Given the description of an element on the screen output the (x, y) to click on. 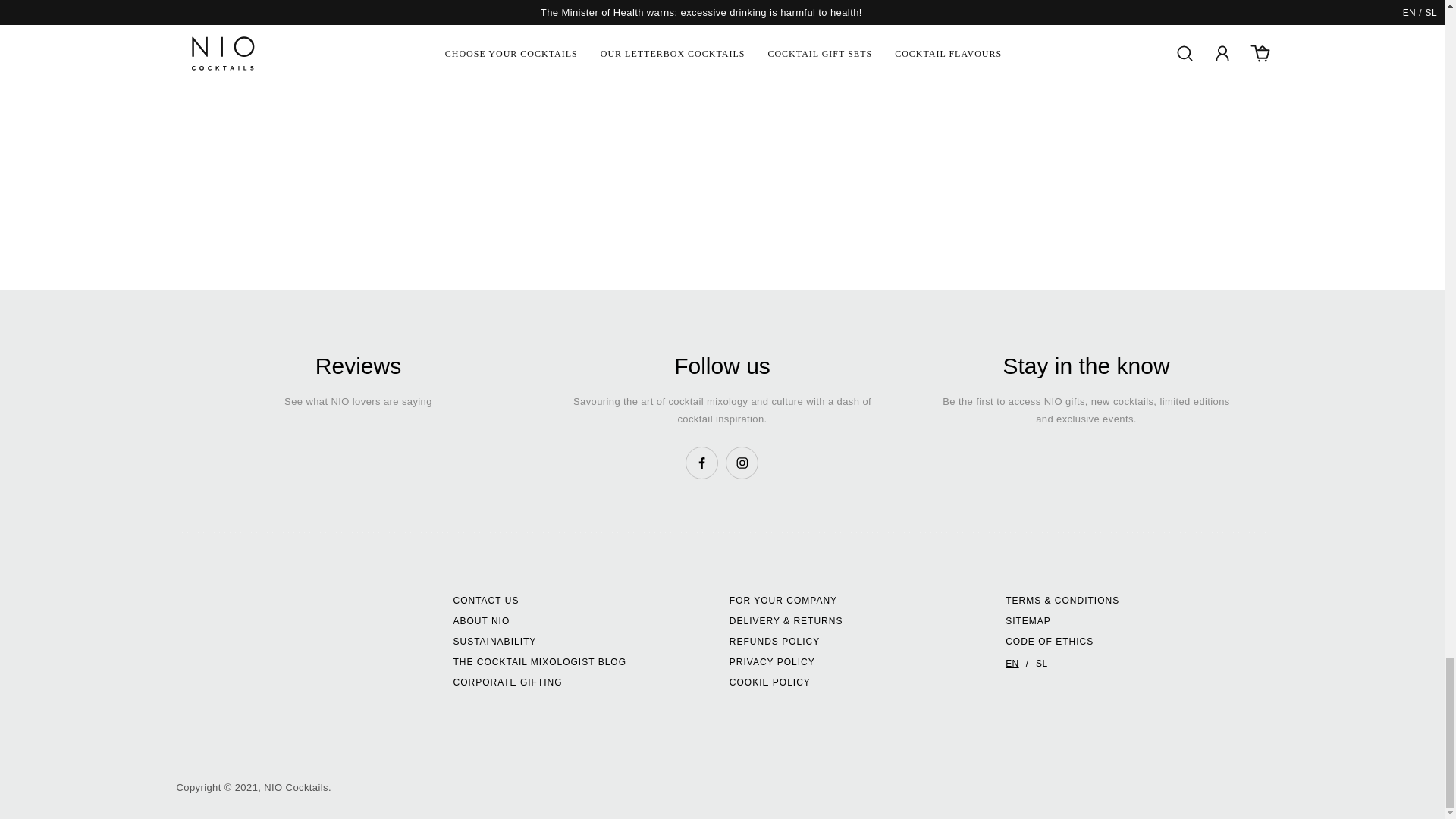
Sitemap (1027, 620)
Code of ethics (1049, 641)
Sustainability (494, 641)
For your Company (783, 600)
Corporate Gifting (507, 682)
Cookie Policy (769, 682)
About NIO (480, 620)
The Cocktail Mixologist Blog (538, 661)
Refunds Policy (774, 641)
Contact Us (485, 600)
